Given the description of an element on the screen output the (x, y) to click on. 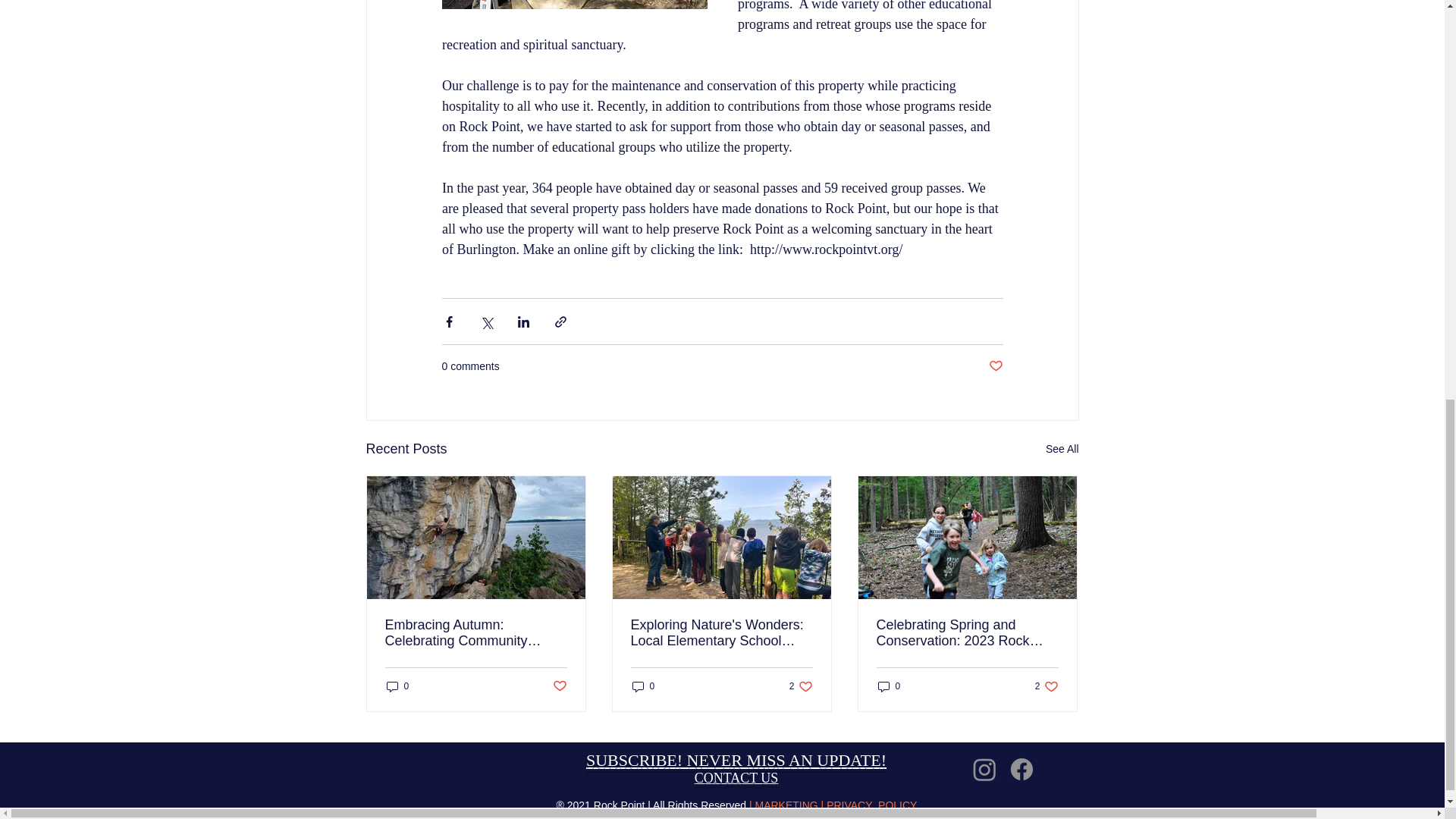
0 (643, 686)
SUBSCRIBE! NEVER MISS AN UPDATE! (736, 760)
Post not marked as liked (558, 686)
0 (889, 686)
0 (1046, 686)
